Given the description of an element on the screen output the (x, y) to click on. 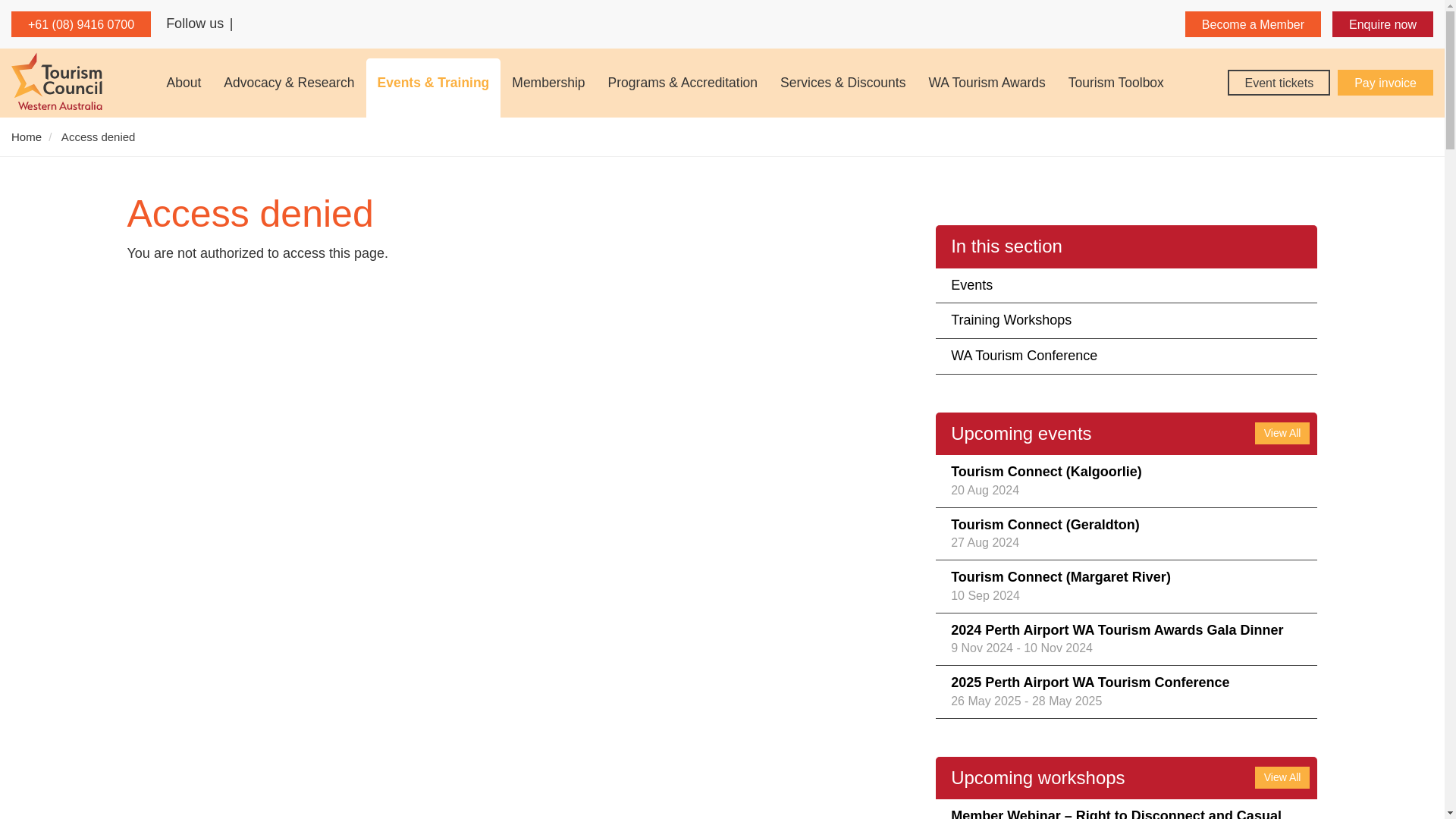
Membership (547, 87)
Pay invoice (1385, 82)
Enquire now (1382, 23)
Home (56, 80)
Event tickets (1278, 82)
Become a Member (1252, 23)
About (183, 87)
